Given the description of an element on the screen output the (x, y) to click on. 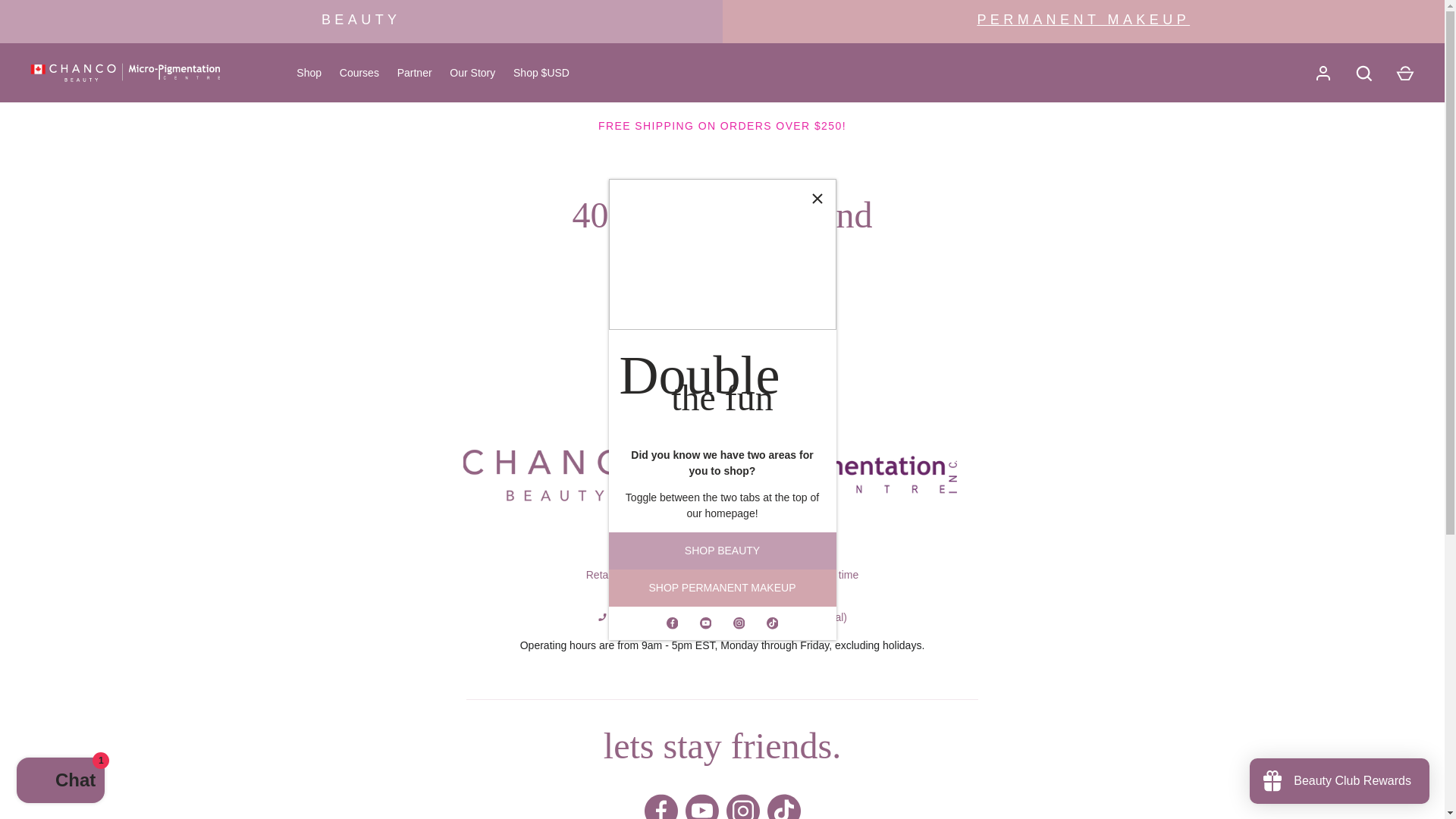
PERMANENT MAKEUP (1082, 19)
Shopify online store chat (60, 781)
BEAUTY (360, 19)
Email (654, 601)
